Given the description of an element on the screen output the (x, y) to click on. 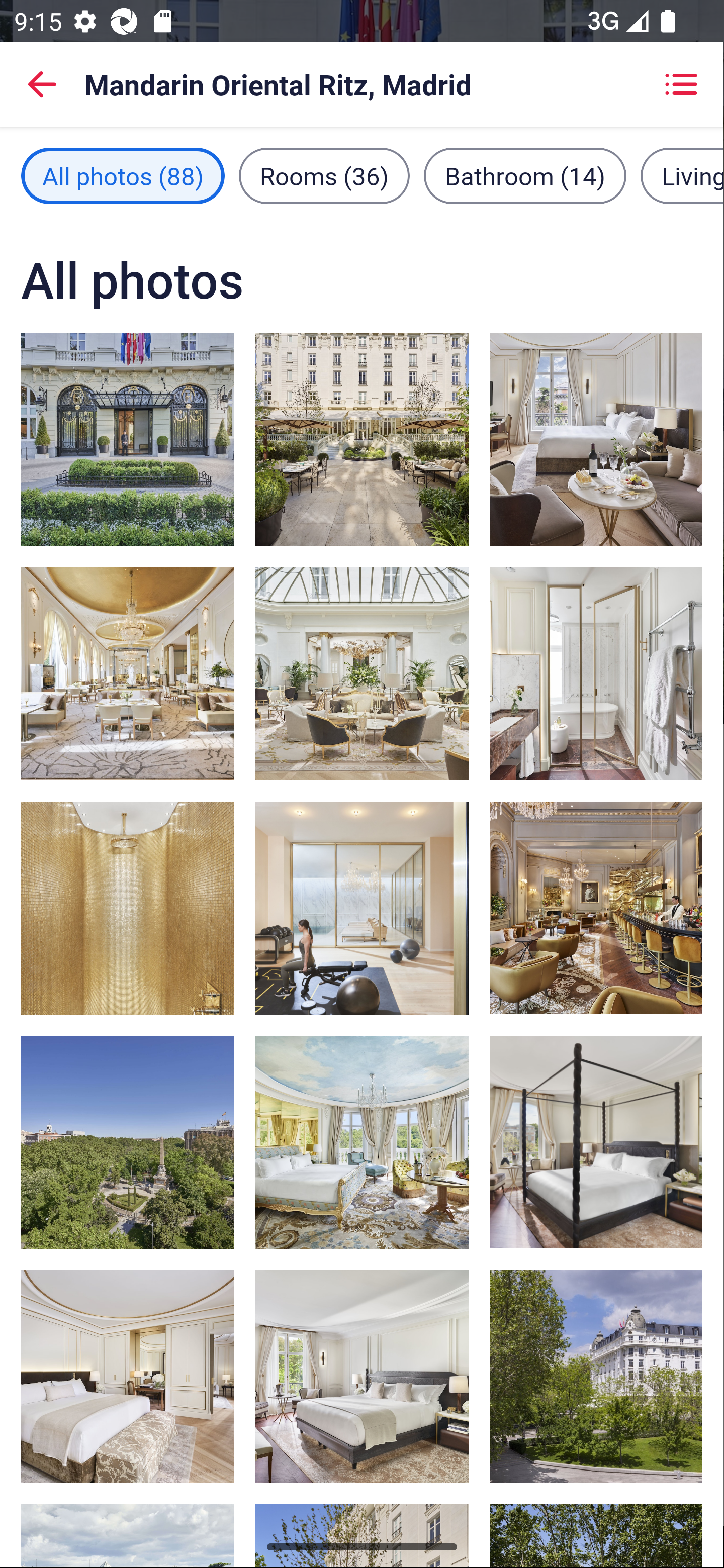
Back (42, 84)
Showing grid view (681, 84)
All photos filter, 88 images (122, 175)
Rooms filter, 36 images (323, 175)
Bathroom filter, 14 images (524, 175)
Living area filter, 11 images (681, 175)
Property entrance, image (127, 438)
Garden view, image (361, 438)
Restaurant, image (127, 673)
Restaurant, image (361, 673)
Gym, image (361, 907)
2 bars/lounges, Champagne bar, cocktail bar, image (595, 907)
City view, image (127, 1142)
Exterior, image (595, 1376)
